Given the description of an element on the screen output the (x, y) to click on. 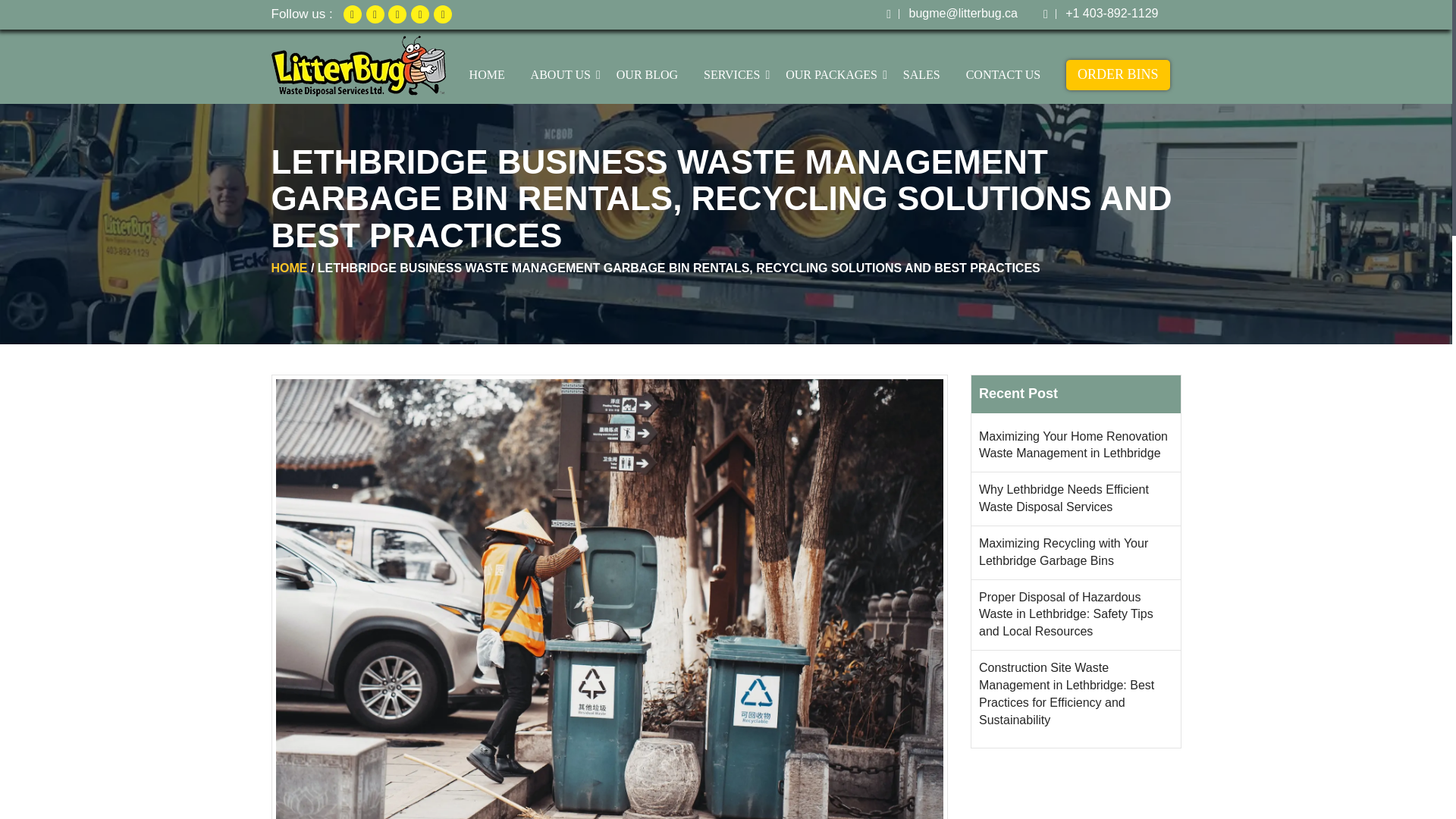
SERVICES (732, 75)
HOME (487, 75)
OUR BLOG (646, 75)
ABOUT US (560, 75)
